Given the description of an element on the screen output the (x, y) to click on. 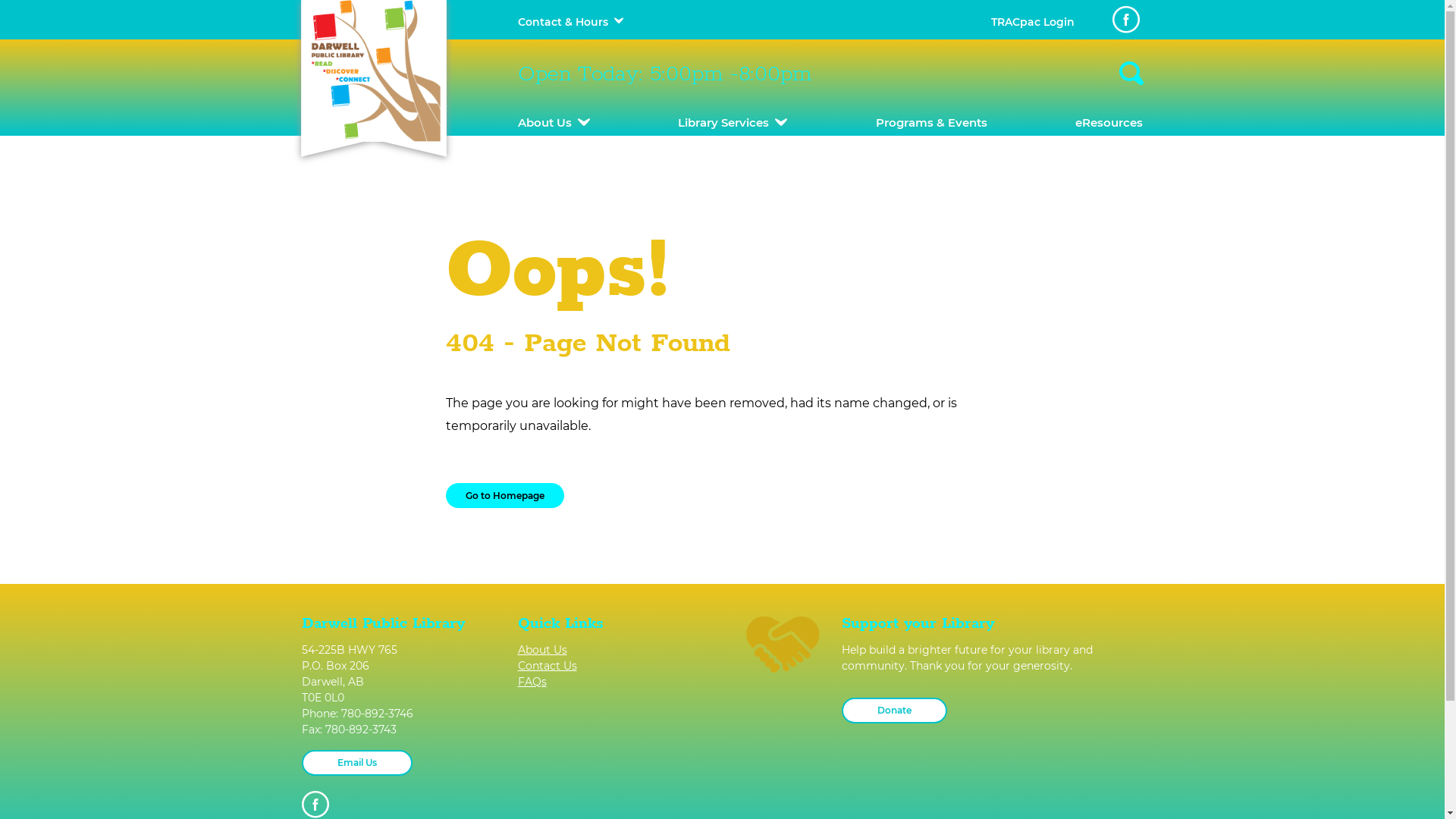
About Us Element type: text (553, 122)
Facebook Element type: hover (1125, 19)
FAQs Element type: text (613, 682)
About Us Element type: text (613, 650)
TRACpac Login Element type: text (1031, 21)
Email Us Element type: text (356, 762)
eResources Element type: text (1108, 122)
Programs & Events Element type: text (931, 122)
Donate Element type: text (894, 710)
Contact Us Element type: text (613, 666)
Contact & Hours Element type: text (562, 21)
Go to Homepage Element type: text (504, 495)
Facebook Element type: hover (315, 804)
Library Services Element type: text (732, 122)
